Given the description of an element on the screen output the (x, y) to click on. 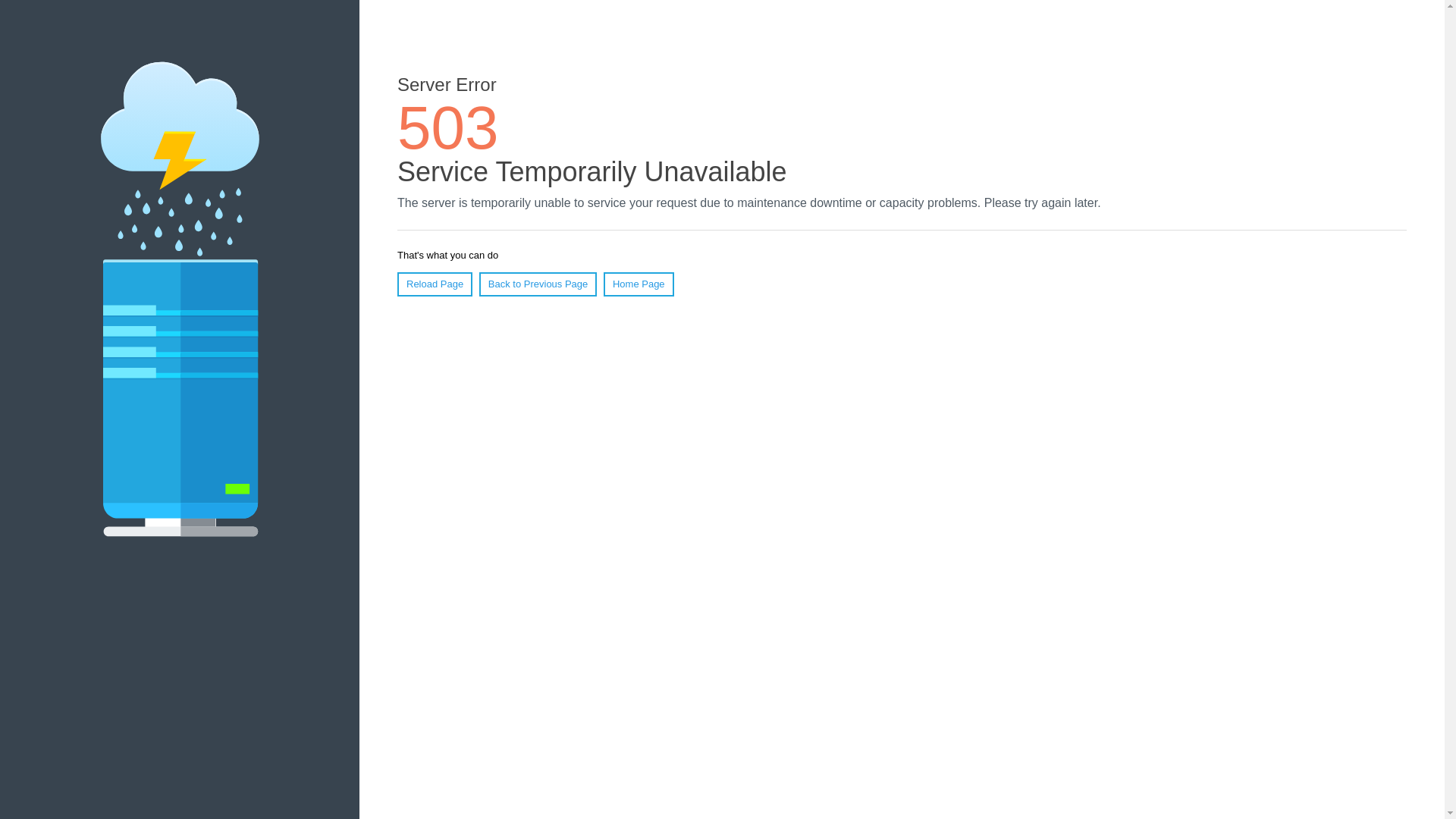
Reload Page (434, 283)
Home Page (639, 283)
Back to Previous Page (537, 283)
